Given the description of an element on the screen output the (x, y) to click on. 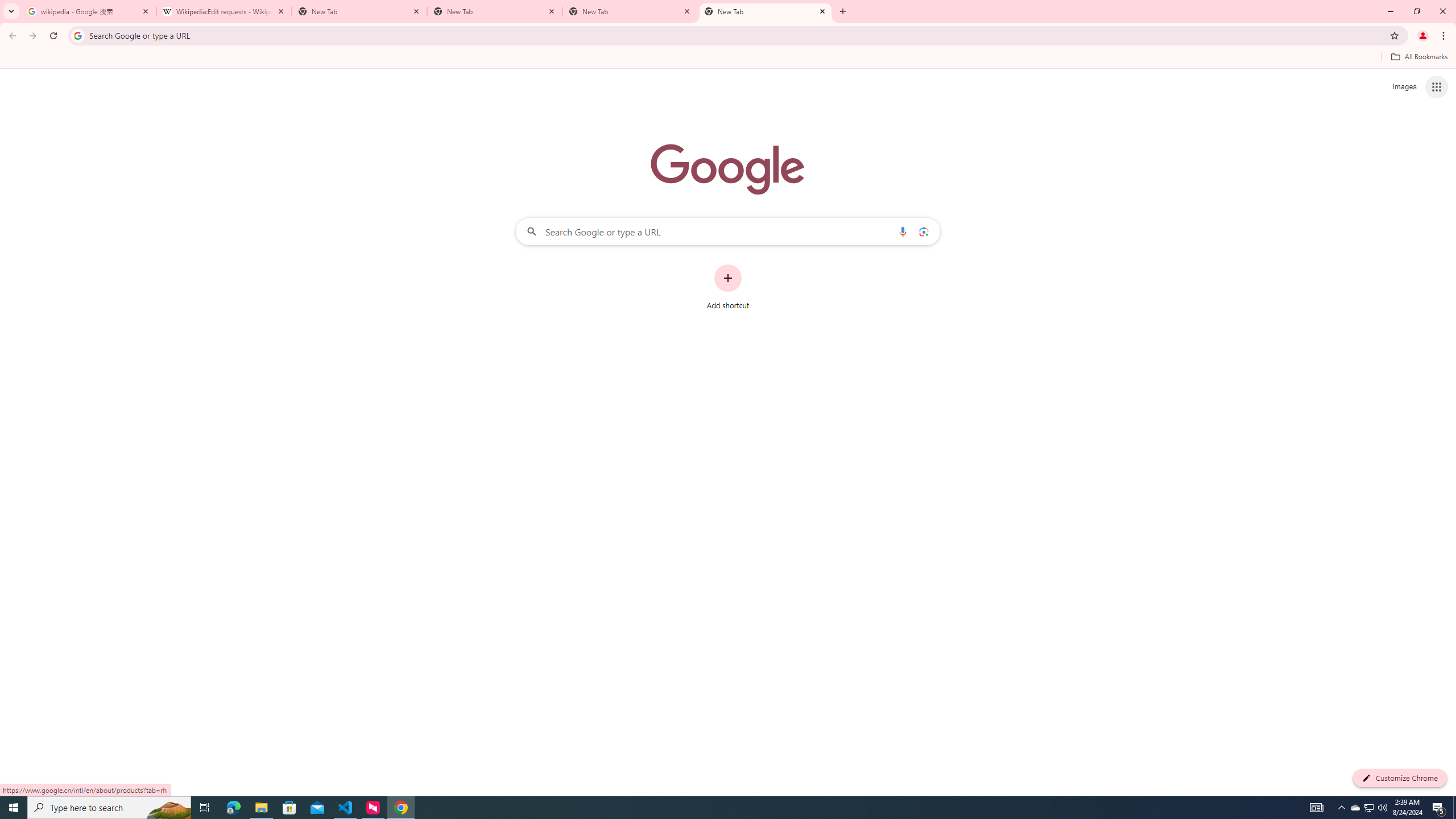
New Tab (494, 11)
New Tab (359, 11)
